Given the description of an element on the screen output the (x, y) to click on. 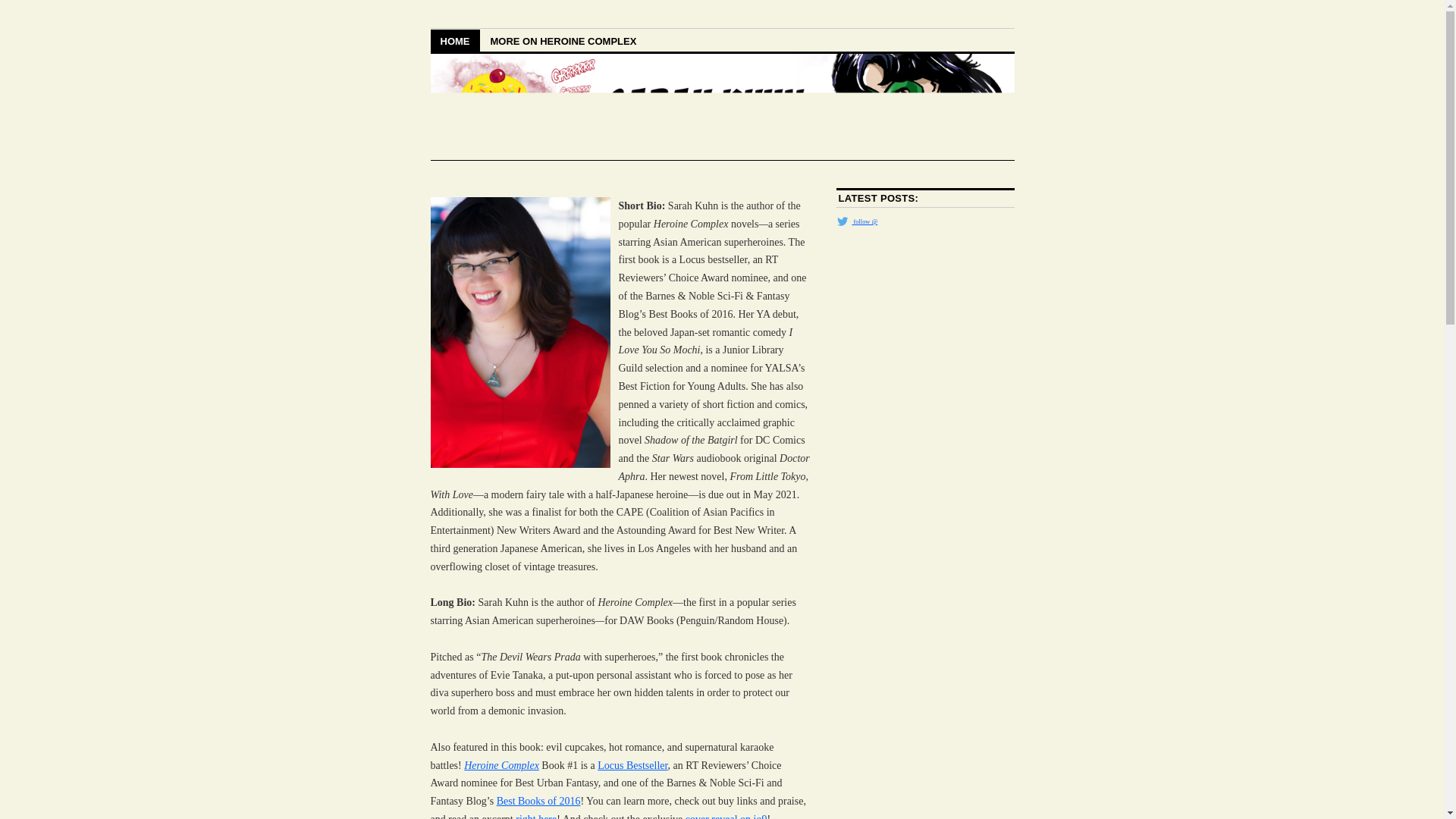
Heroine Complex (501, 765)
MORE ON HEROINE COMPLEX (563, 40)
Best Books of 2016 (538, 800)
Locus Bestseller (631, 765)
right here (535, 816)
cover reveal on io9 (726, 816)
HOME (455, 40)
